Given the description of an element on the screen output the (x, y) to click on. 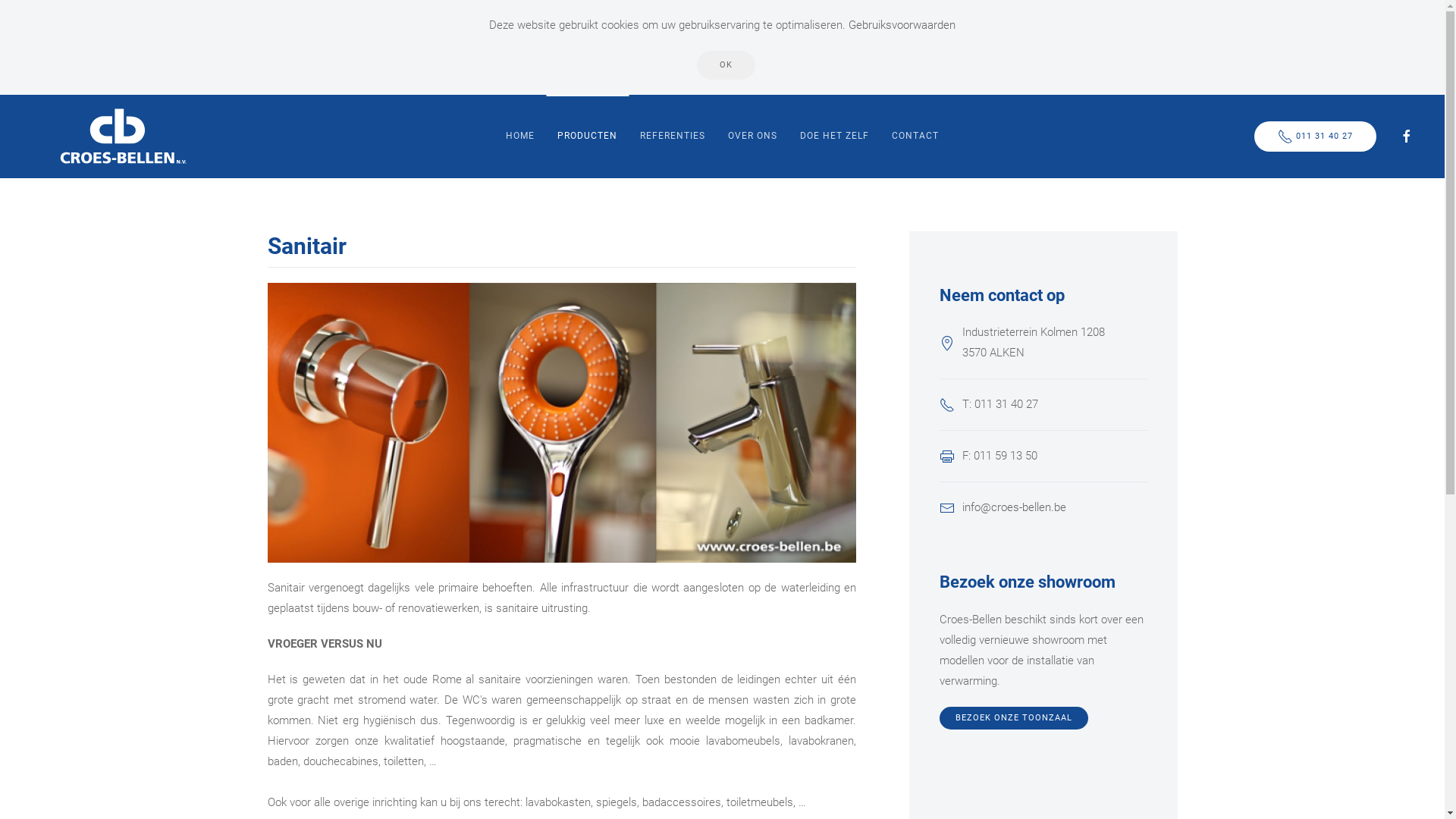
OK Element type: text (725, 64)
OVER ONS Element type: text (752, 136)
info@croes-bellen.be Element type: text (1014, 507)
HOME Element type: text (520, 136)
Gebruiksvoorwaarden Element type: text (901, 24)
DOE HET ZELF Element type: text (834, 136)
BEZOEK ONZE TOONZAAL Element type: text (1013, 717)
CONTACT Element type: text (915, 136)
REFERENTIES Element type: text (672, 136)
PRODUCTEN Element type: text (587, 136)
011 31 40 27 Element type: text (1315, 136)
